Given the description of an element on the screen output the (x, y) to click on. 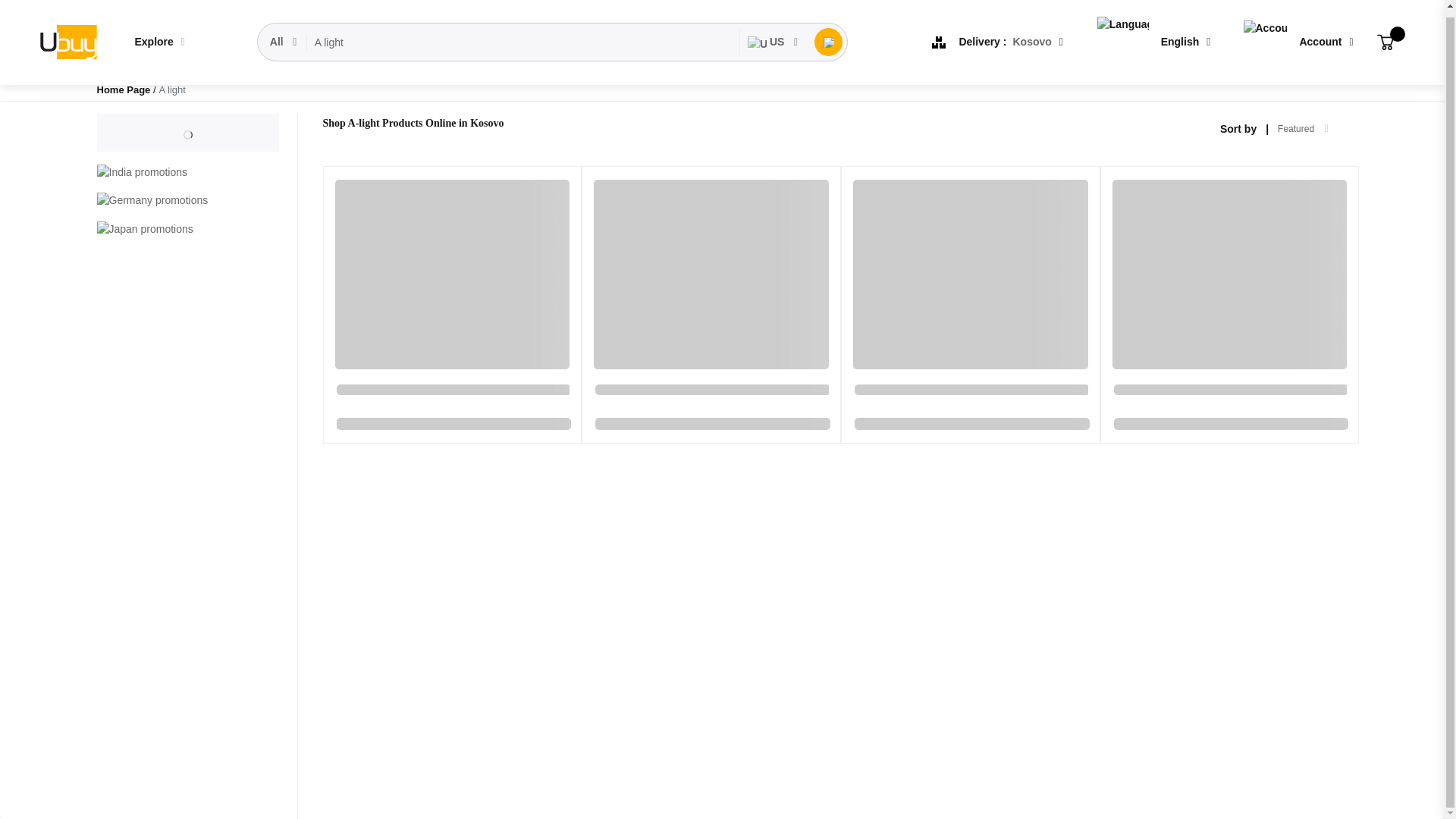
Ubuy (67, 35)
A light (523, 35)
US (772, 35)
Home Page (124, 89)
All (283, 35)
Home Page (124, 89)
A light (523, 35)
Cart (1385, 36)
